Given the description of an element on the screen output the (x, y) to click on. 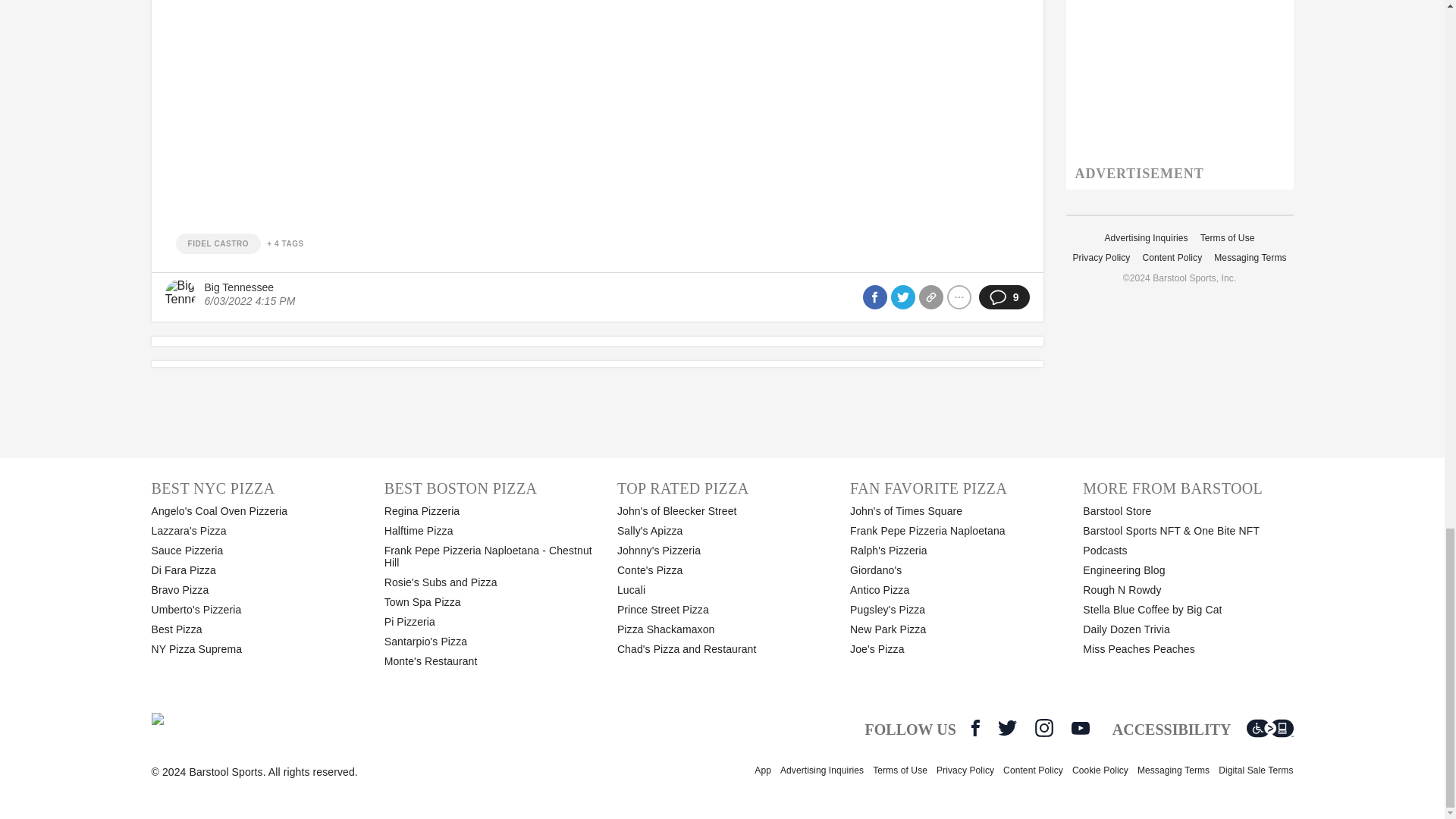
Instagram Icon (1043, 728)
Level Access website accessibility icon (1270, 728)
Twitter Icon (1006, 728)
YouTube Icon (1080, 728)
